Given the description of an element on the screen output the (x, y) to click on. 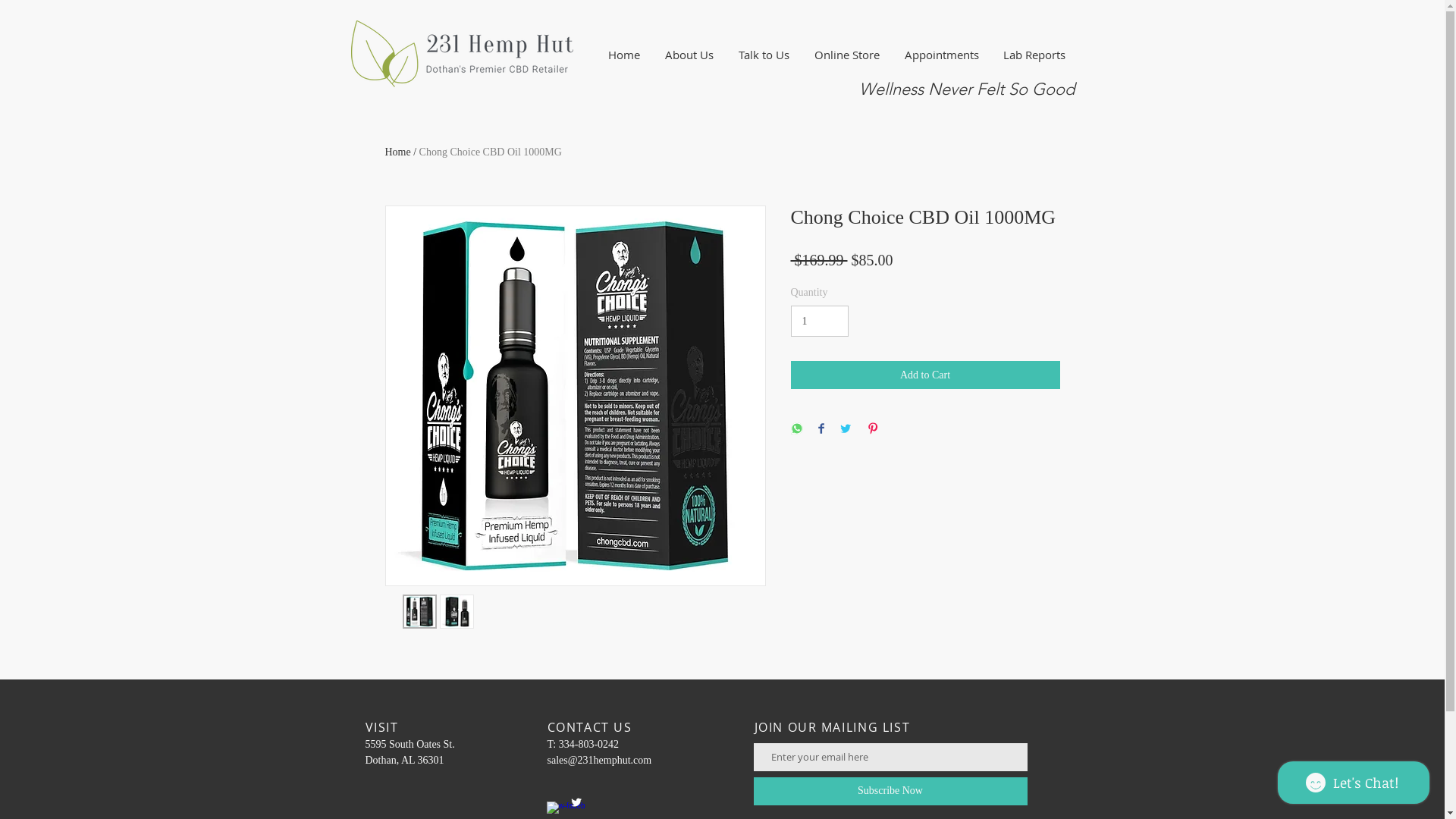
Home Element type: text (398, 151)
Online Store Element type: text (847, 54)
Chong Choice CBD Oil 1000MG Element type: text (490, 151)
Home Element type: text (624, 54)
Talk to Us Element type: text (764, 54)
Subscribe Now Element type: text (890, 791)
Add to Cart Element type: text (924, 374)
Appointments Element type: text (940, 54)
Lab Reports Element type: text (1033, 54)
sales@231hemphut.com Element type: text (599, 759)
